Given the description of an element on the screen output the (x, y) to click on. 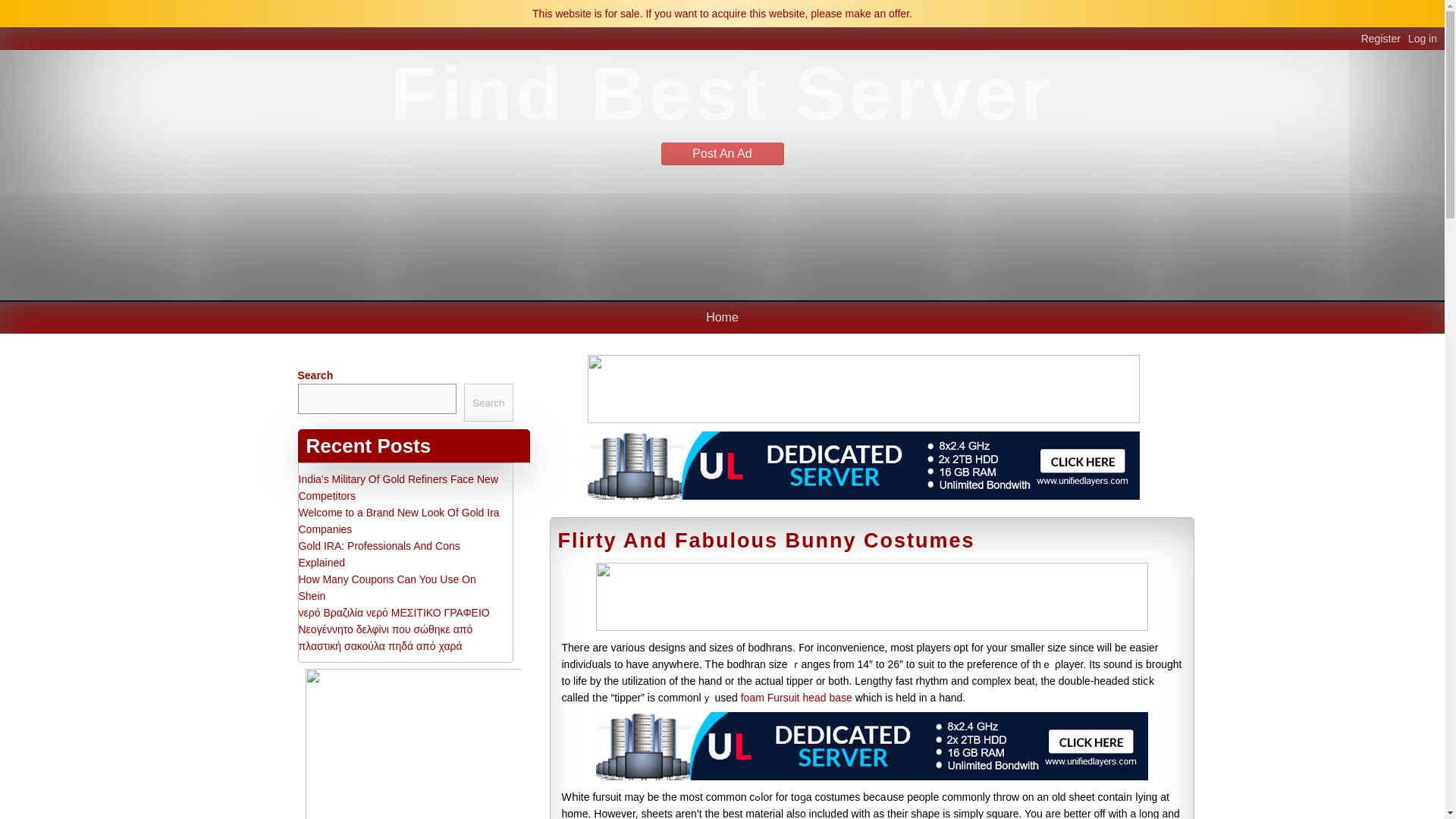
Post An Ad (722, 153)
Search (488, 402)
Register (1384, 38)
Gold IRA: Professionals And Cons Explained (379, 553)
How Many Coupons Can You Use On Shein (387, 587)
Flirty And Fabulous Bunny Costumes (766, 540)
foam Fursuit head base (796, 697)
Home (721, 317)
Welcome to a Brand New Look Of Gold Ira Companies (398, 520)
